Given the description of an element on the screen output the (x, y) to click on. 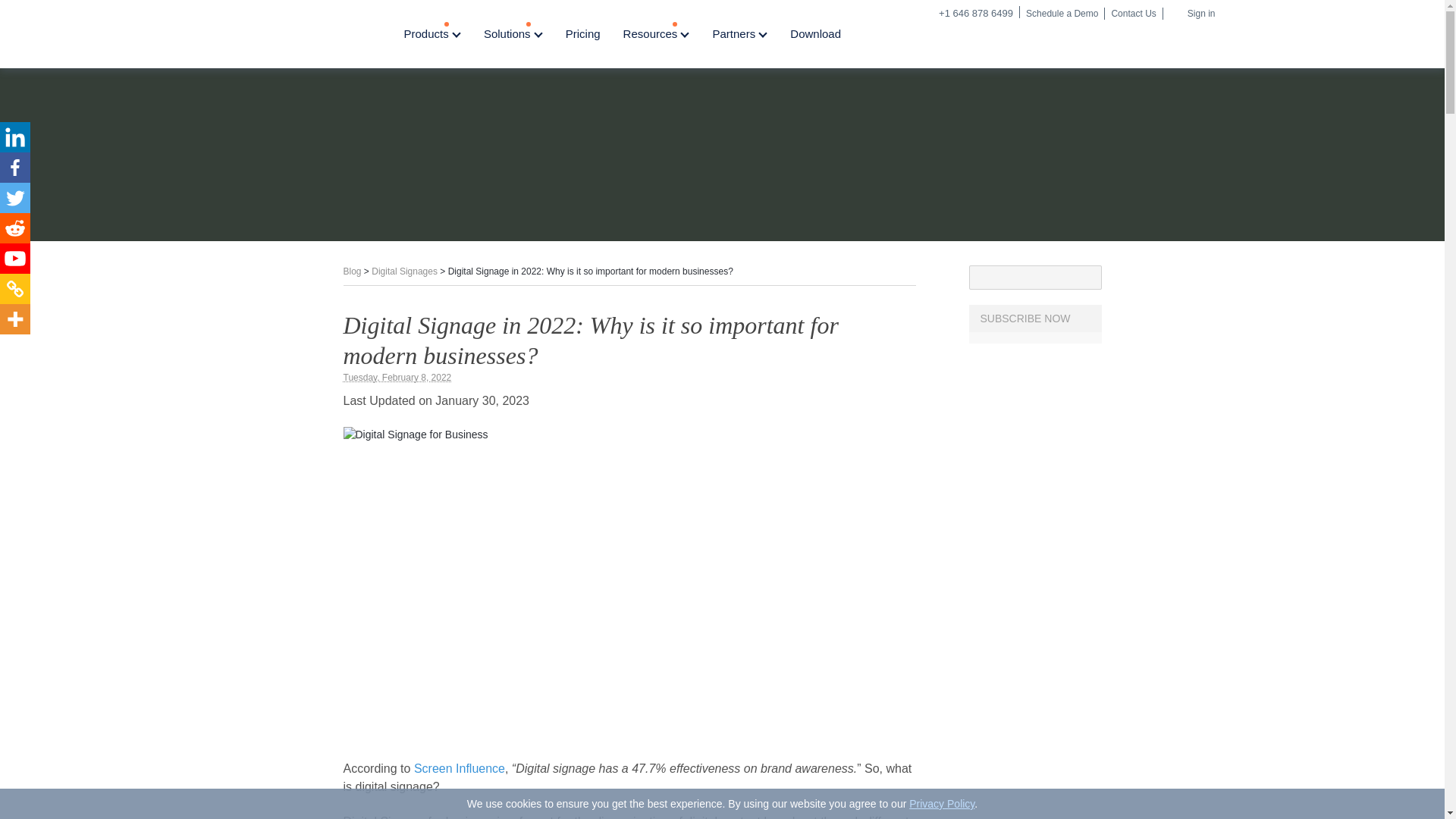
Linkedin (15, 137)
Twitter (15, 197)
Reddit (15, 227)
Youtube (15, 258)
More (15, 318)
Copy Link (15, 288)
Facebook (15, 167)
Search (1088, 277)
